Given the description of an element on the screen output the (x, y) to click on. 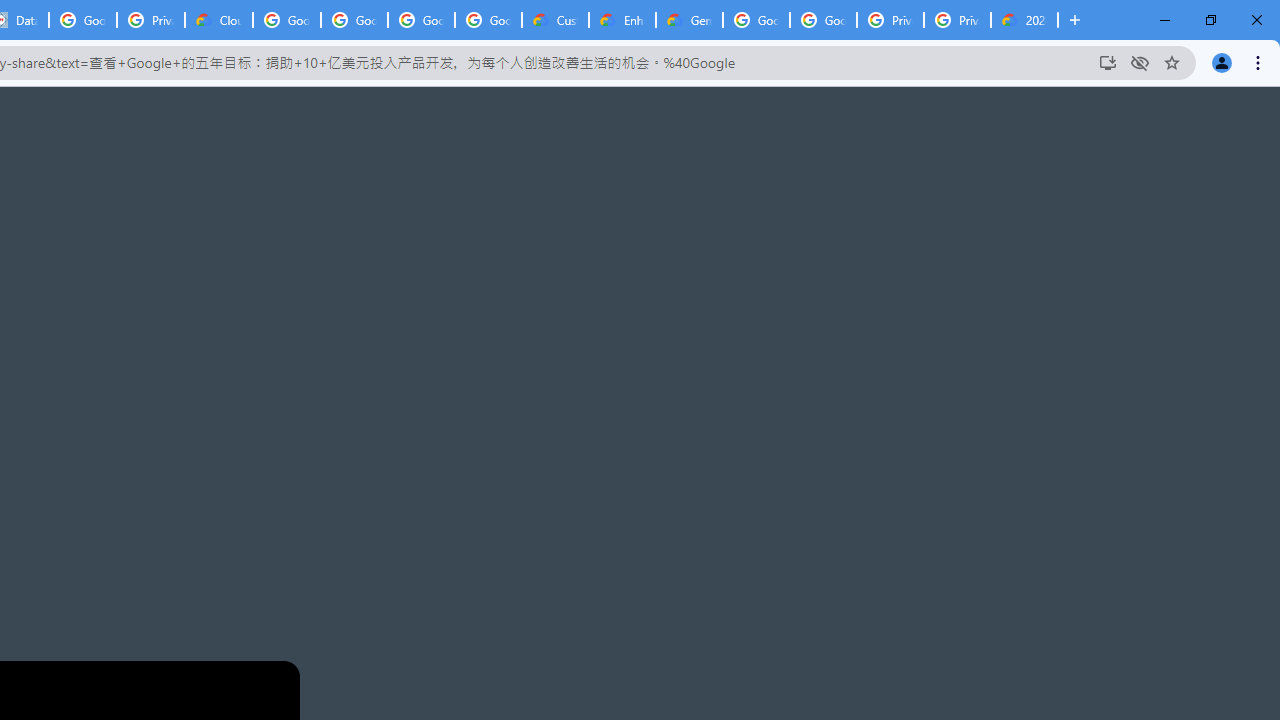
Cloud Data Processing Addendum | Google Cloud (219, 20)
Google Workspace - Specific Terms (488, 20)
Enhanced Support | Google Cloud (622, 20)
Customer Care | Google Cloud (555, 20)
